Given the description of an element on the screen output the (x, y) to click on. 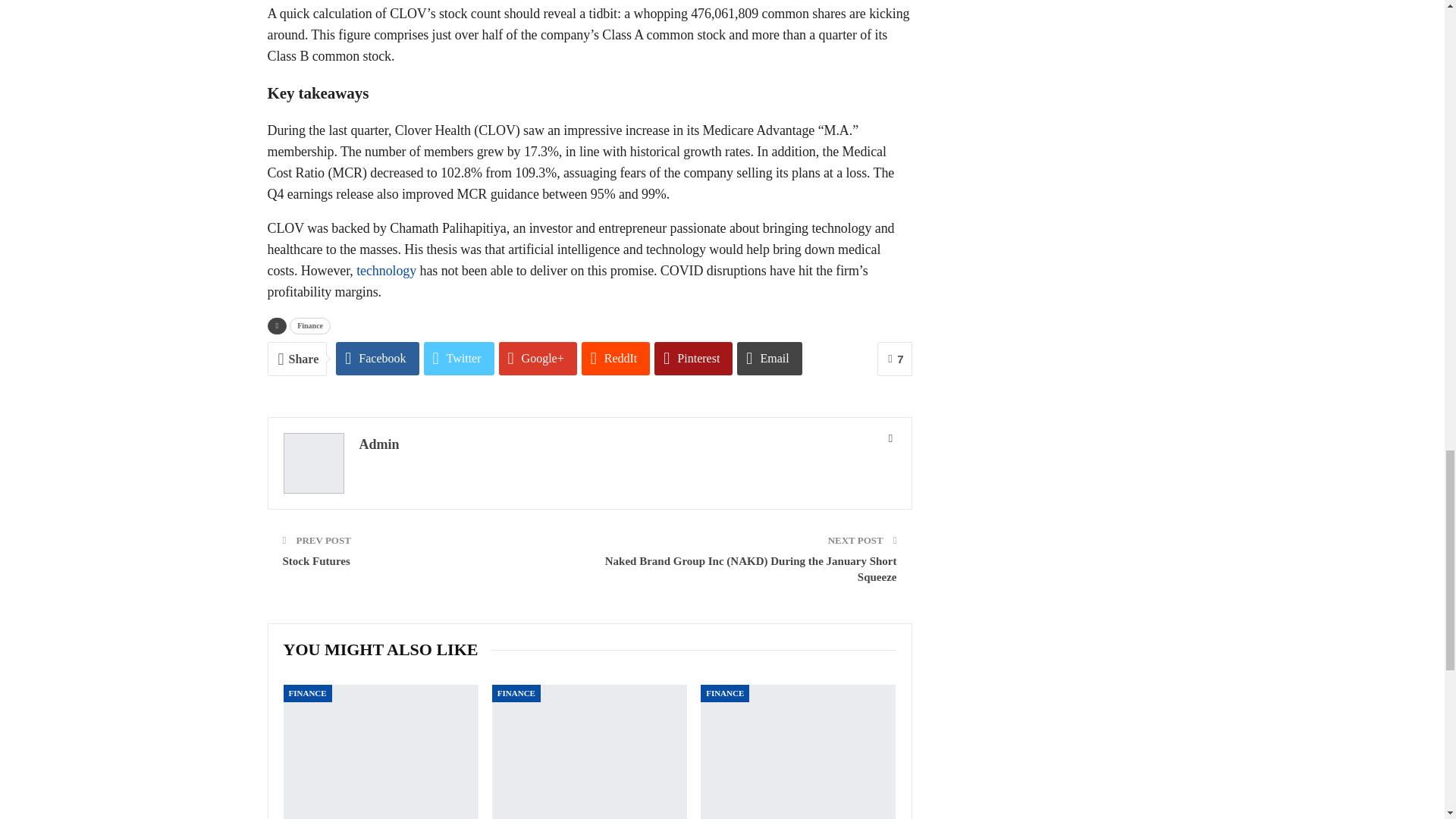
Best Cat Shaped Pillow (381, 751)
Cup Loan Program Reviews (589, 751)
